Given the description of an element on the screen output the (x, y) to click on. 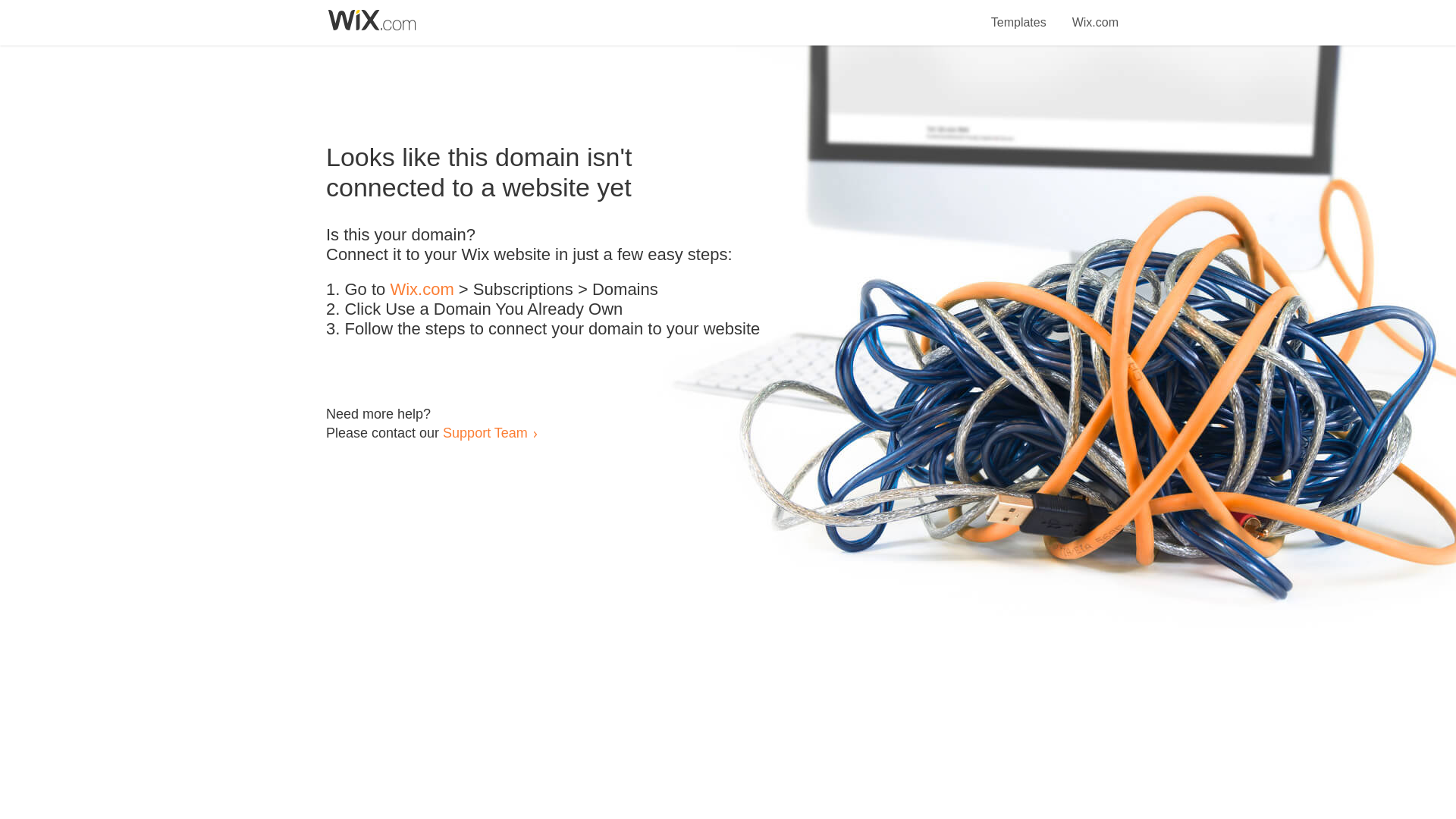
Support Team (484, 432)
Wix.com (1095, 14)
Wix.com (421, 289)
Templates (1018, 14)
